Given the description of an element on the screen output the (x, y) to click on. 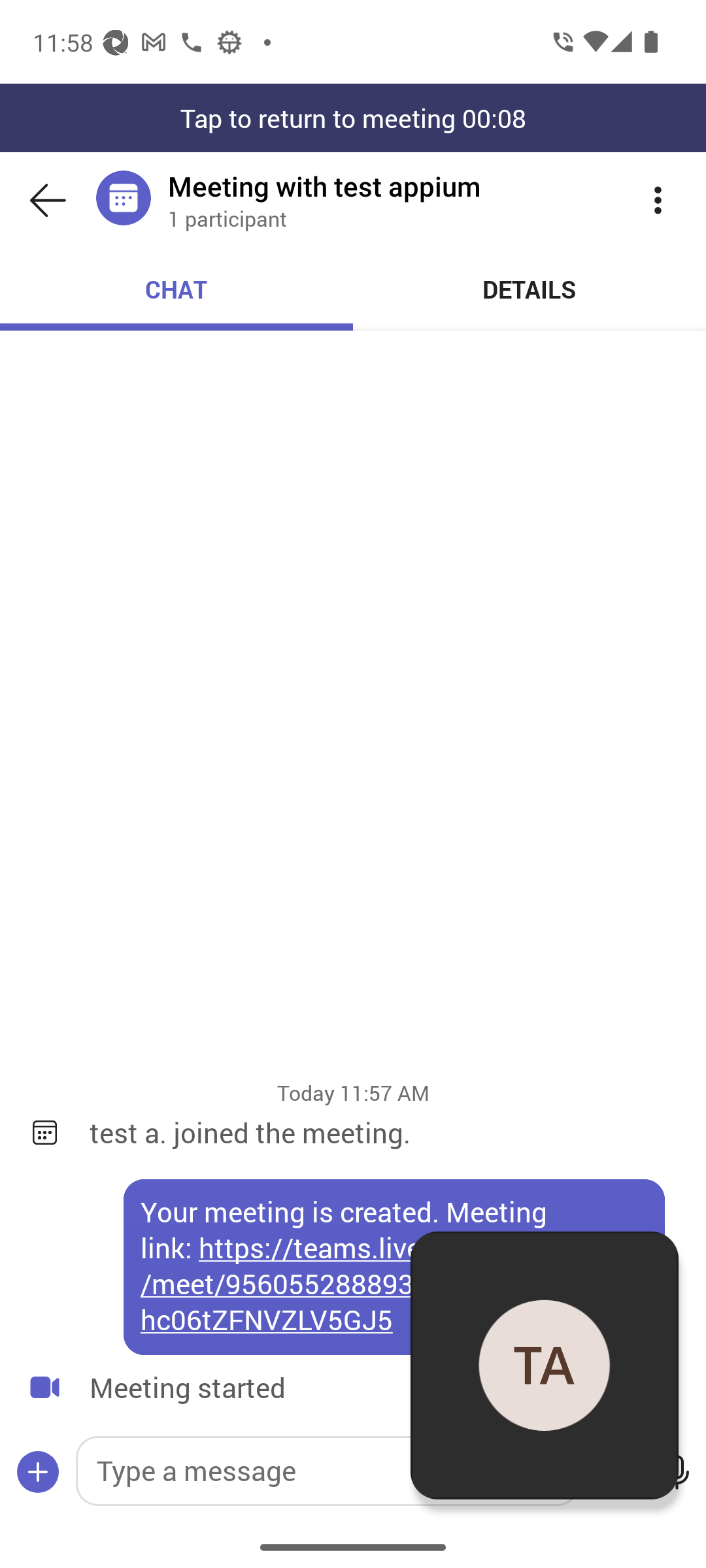
Tap to return to meeting 00:08 (353, 117)
Back (48, 199)
More options (657, 199)
Details DETAILS (529, 288)
test a. joined the meeting. (383, 1131)
Meeting started (307, 1387)
Compose options, collapsed (37, 1471)
Type a message (326, 1470)
